Given the description of an element on the screen output the (x, y) to click on. 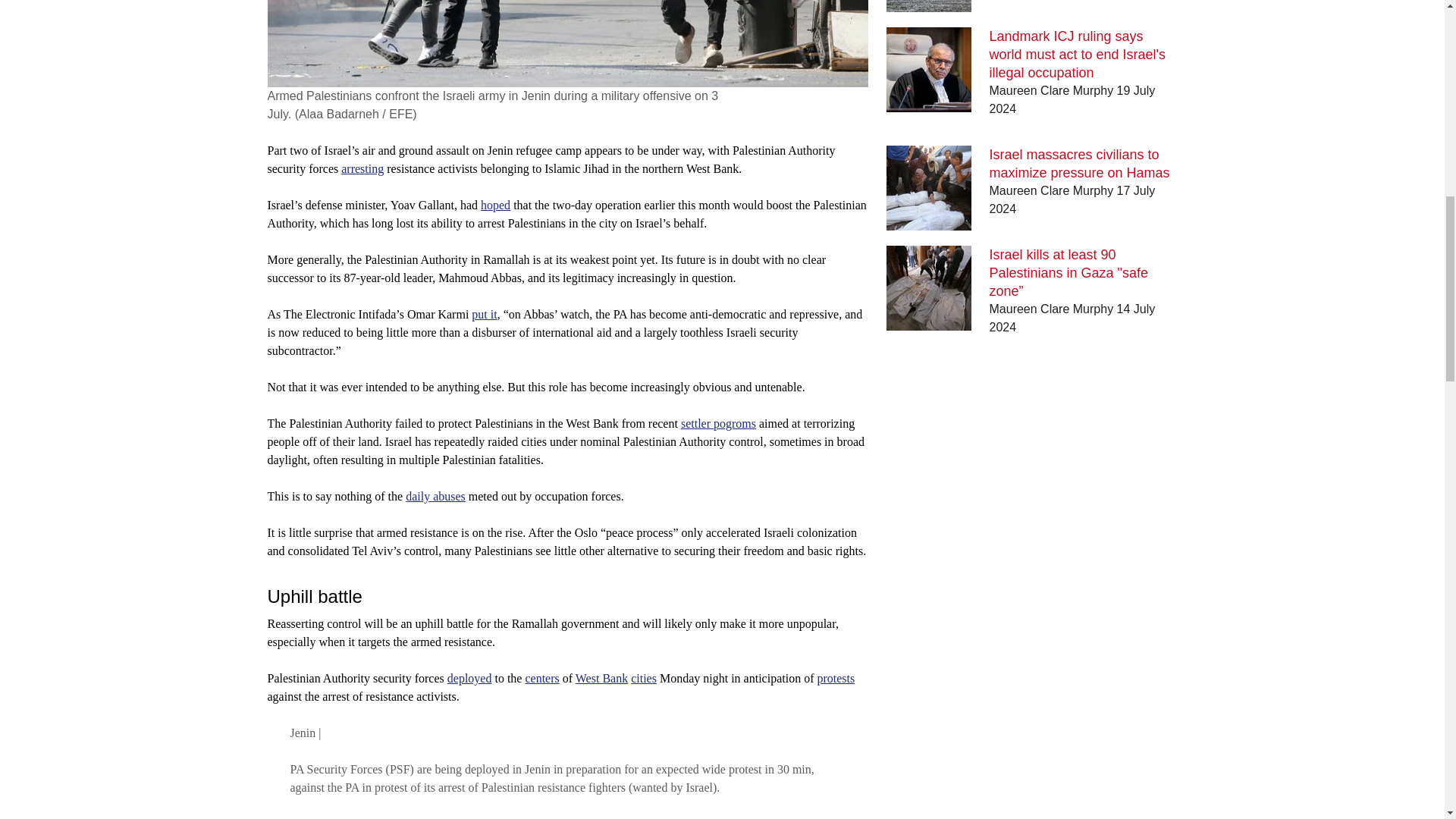
arresting (362, 168)
West Bank (601, 677)
hoped (495, 205)
cities (643, 677)
settler pogroms (718, 422)
put it (483, 314)
protests (835, 677)
deployed (469, 677)
centers (541, 677)
daily abuses (435, 495)
